Given the description of an element on the screen output the (x, y) to click on. 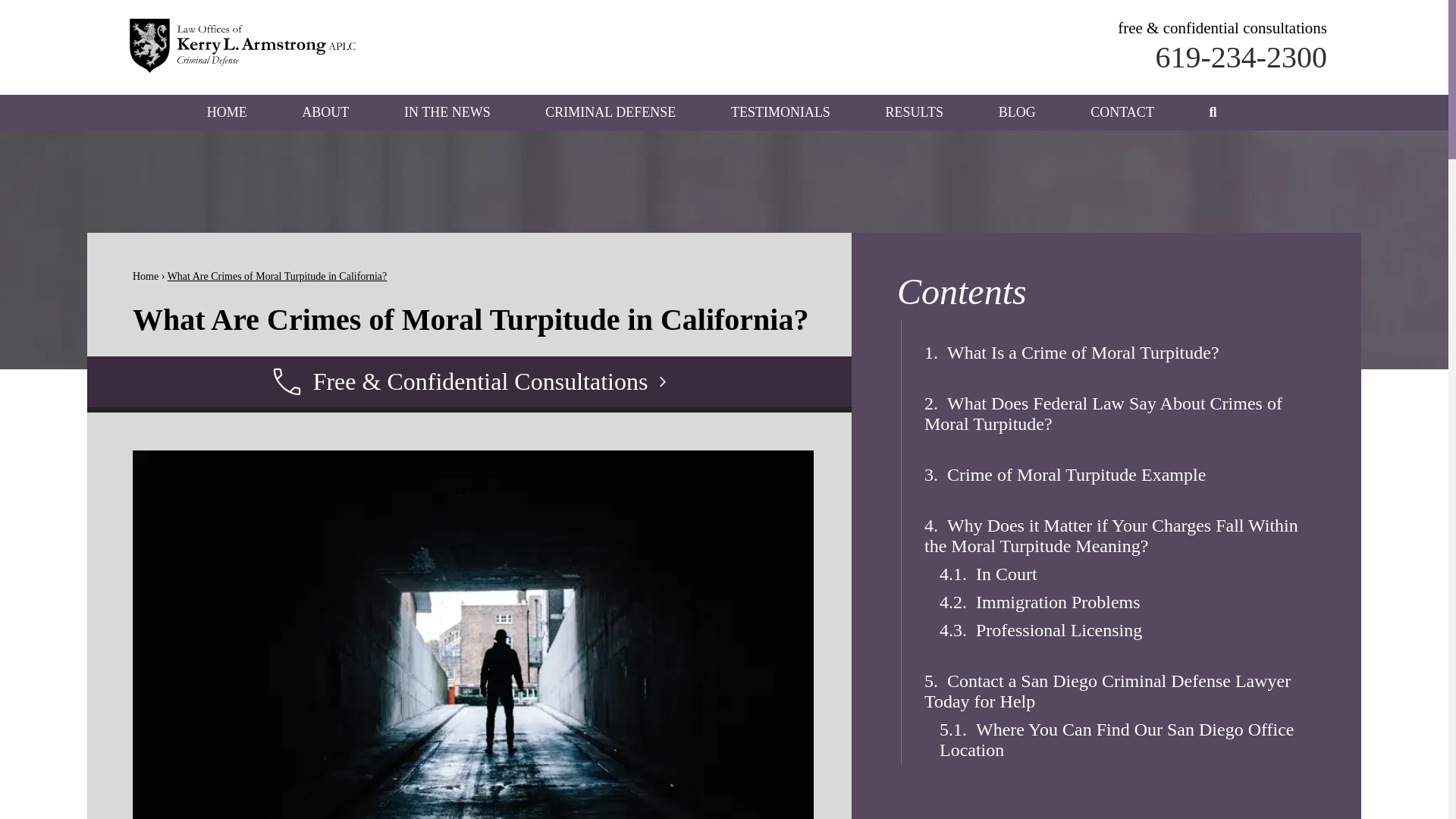
BLOG (1016, 112)
IN THE NEWS (447, 112)
Home (145, 276)
CONTACT (1122, 112)
RESULTS (914, 112)
CRIMINAL DEFENSE (609, 112)
HOME (226, 112)
TESTIMONIALS (779, 112)
ABOUT (325, 112)
